Given the description of an element on the screen output the (x, y) to click on. 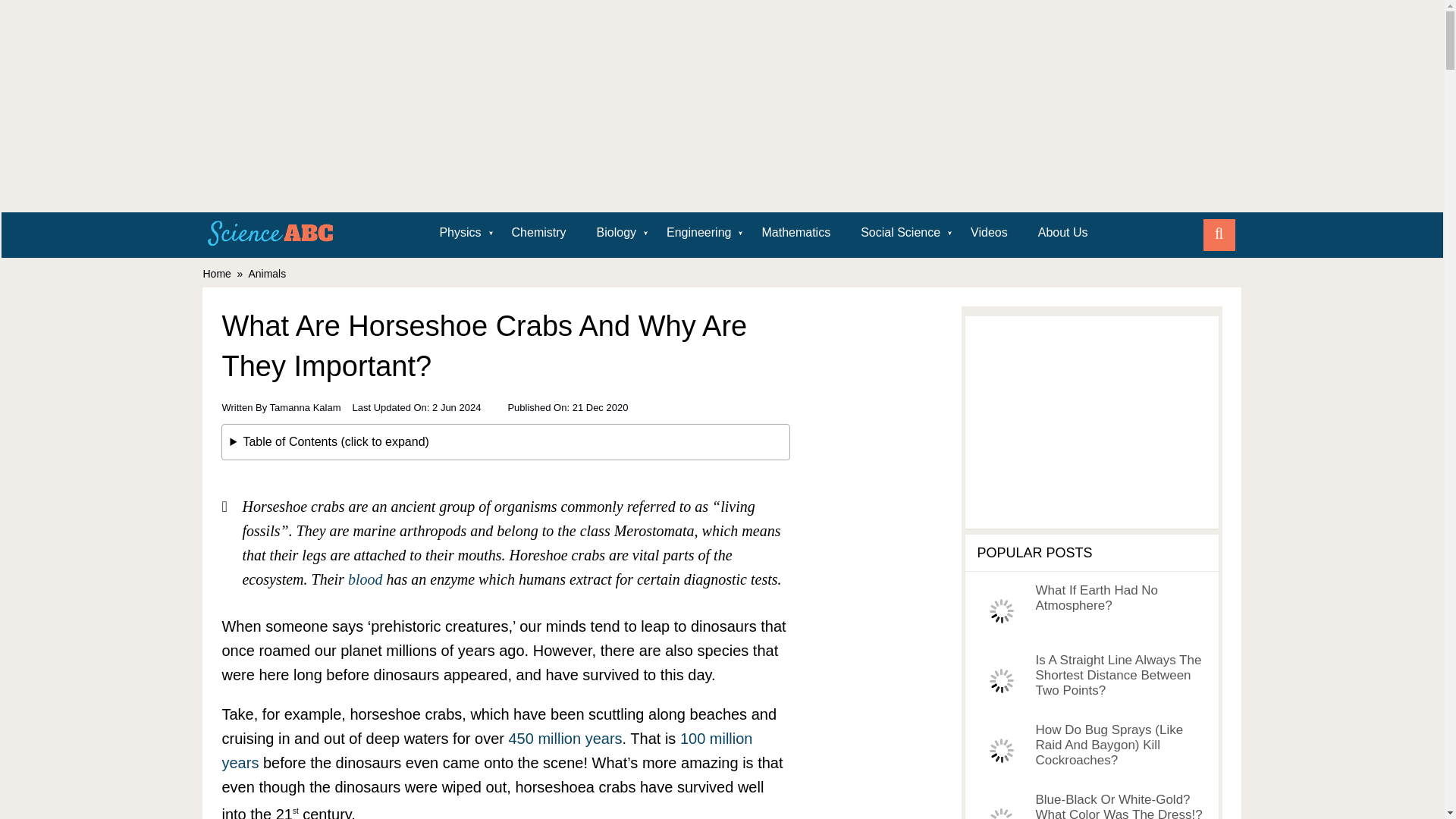
About Us (1063, 232)
Mathematics (795, 232)
Social Science (900, 232)
Videos (989, 232)
Engineering (697, 232)
Chemistry (538, 232)
Biology (615, 232)
Physics (459, 232)
